Given the description of an element on the screen output the (x, y) to click on. 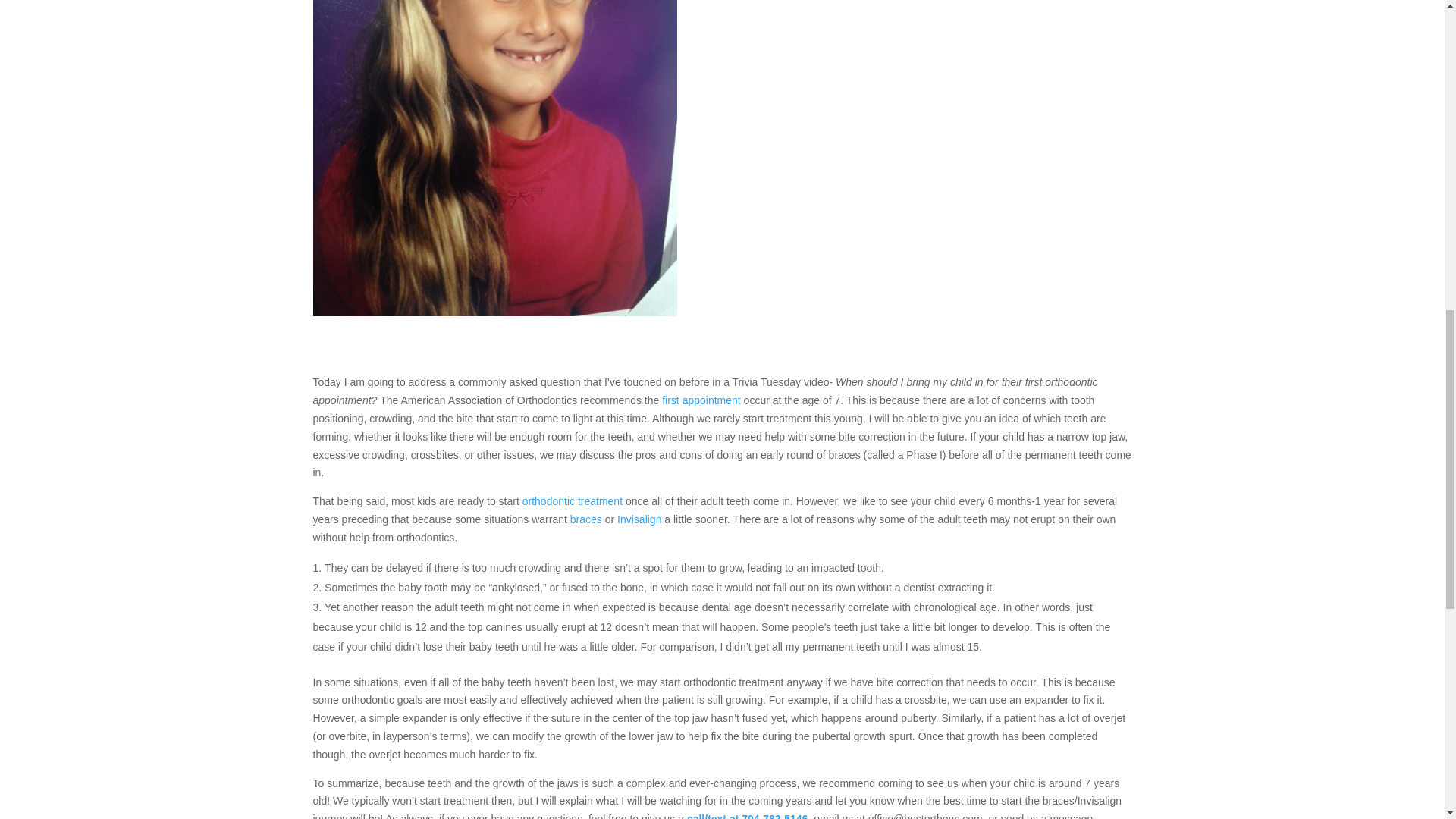
first appointment (701, 399)
braces (586, 519)
orthodontic treatment (572, 500)
Invisalign (639, 519)
4934161C-D524-4FBC-AC94-23461221CE1D (495, 158)
